Given the description of an element on the screen output the (x, y) to click on. 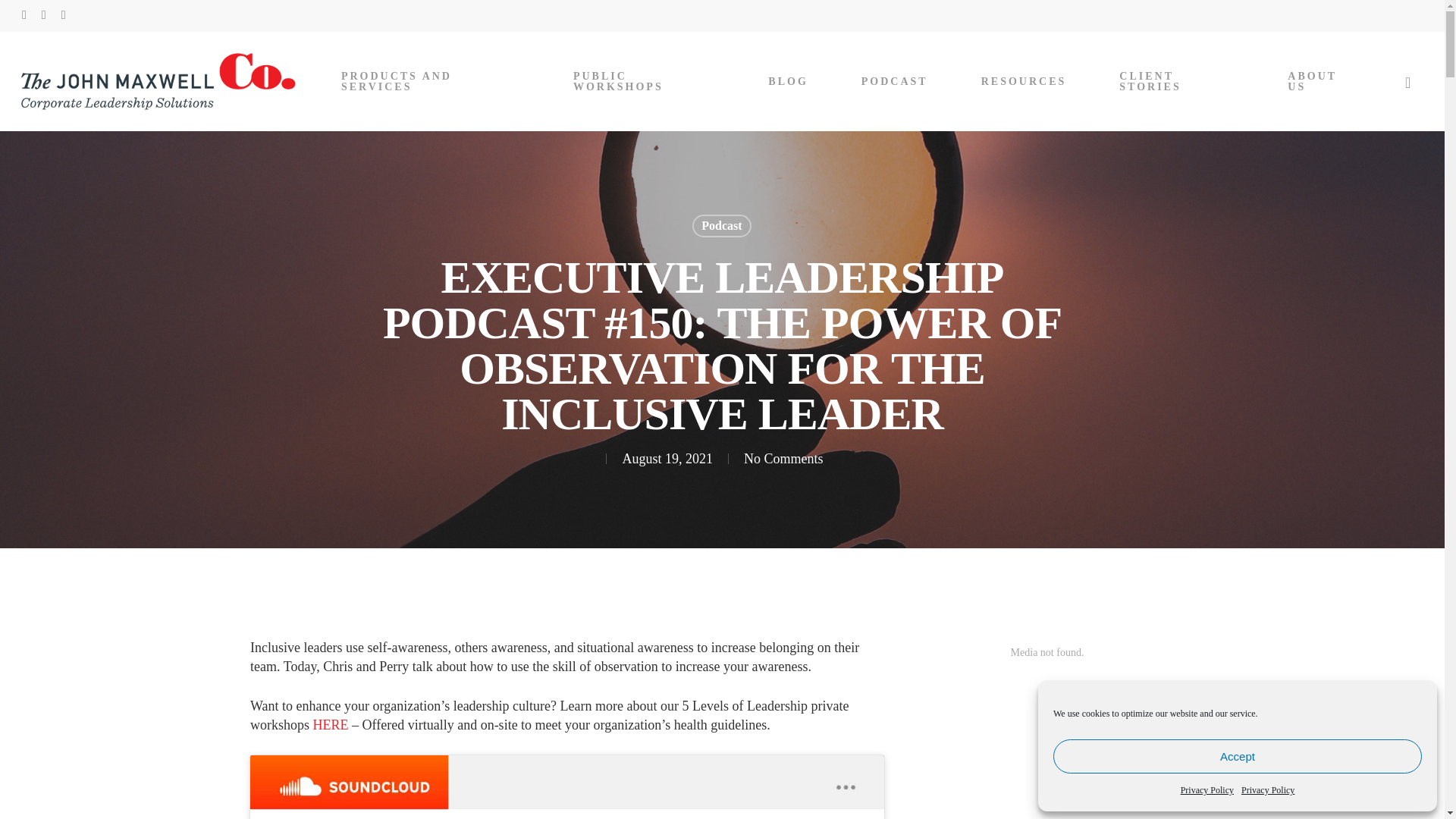
RESOURCES (1024, 81)
BLOG (788, 81)
Accept (1237, 756)
ABOUT US (1321, 81)
No Comments (784, 458)
Privacy Policy (1206, 790)
HERE (331, 724)
Podcast (722, 225)
CLIENT STORIES (1176, 81)
PUBLIC WORKSHOPS (643, 81)
